Given the description of an element on the screen output the (x, y) to click on. 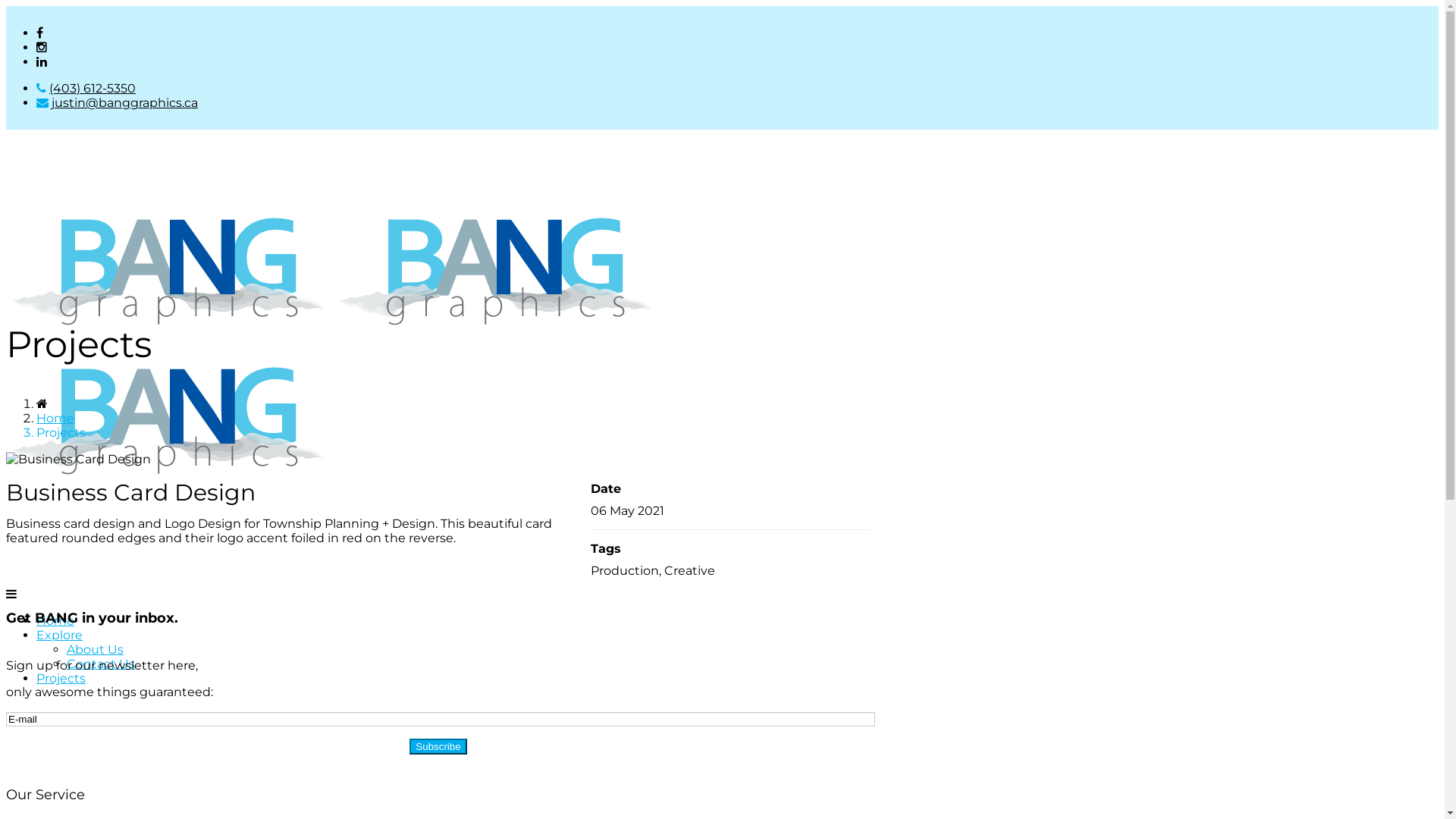
justin@banggraphics.ca Element type: text (124, 102)
E-mail Element type: hover (440, 719)
Contact Us Element type: text (100, 663)
Home Element type: text (55, 620)
(403) 612-5350 Element type: text (92, 88)
Home Element type: text (55, 418)
Subscribe Element type: text (437, 746)
Projects Element type: text (60, 678)
About Us Element type: text (94, 649)
Explore Element type: text (59, 634)
